Given the description of an element on the screen output the (x, y) to click on. 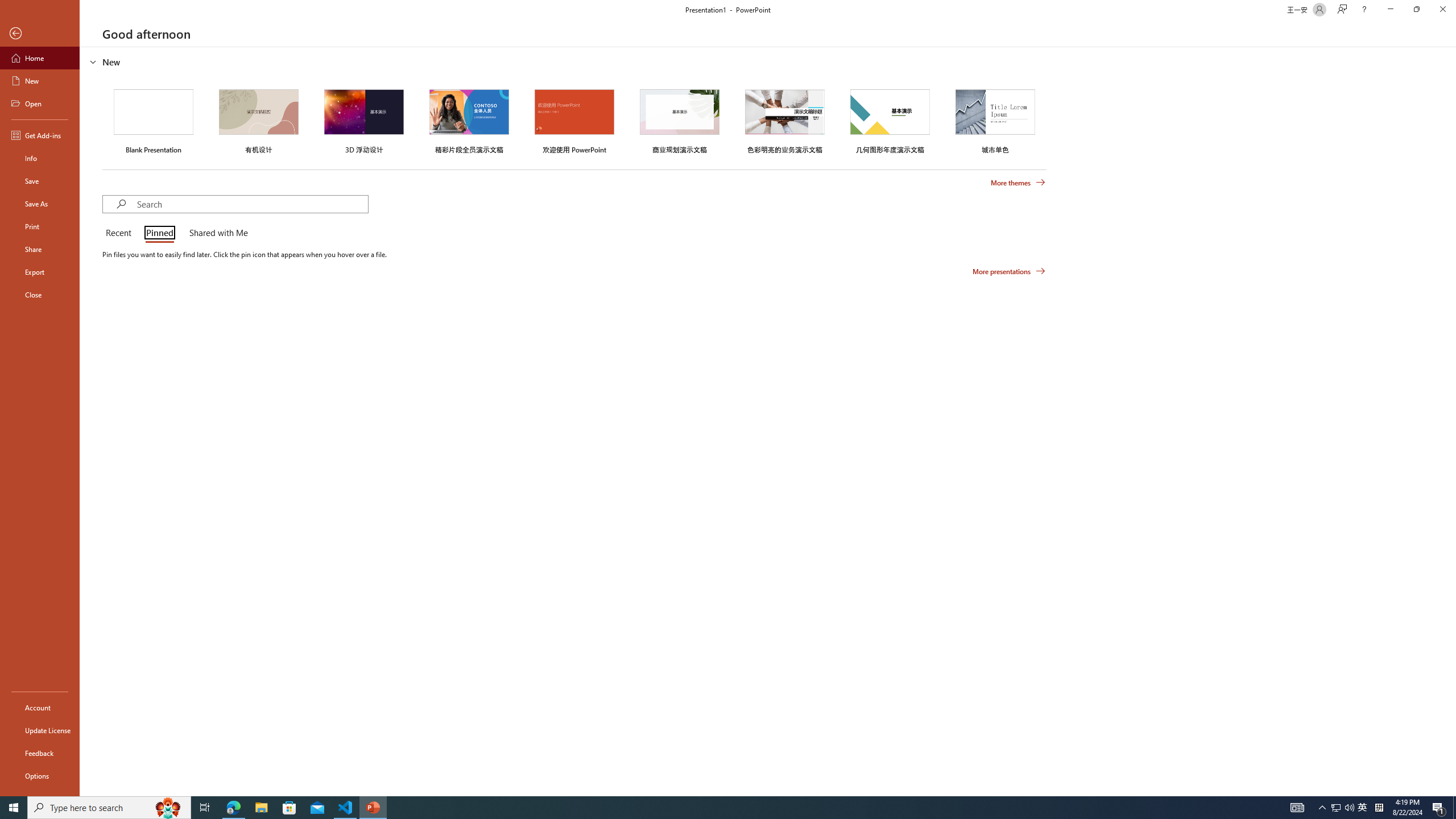
Open (40, 102)
Blank Presentation (153, 119)
Account (40, 707)
Recent (119, 233)
Get Add-ins (40, 134)
Save As (40, 203)
Hide or show region (92, 61)
Class: NetUIScrollBar (1450, 421)
More presentations (1008, 270)
